Given the description of an element on the screen output the (x, y) to click on. 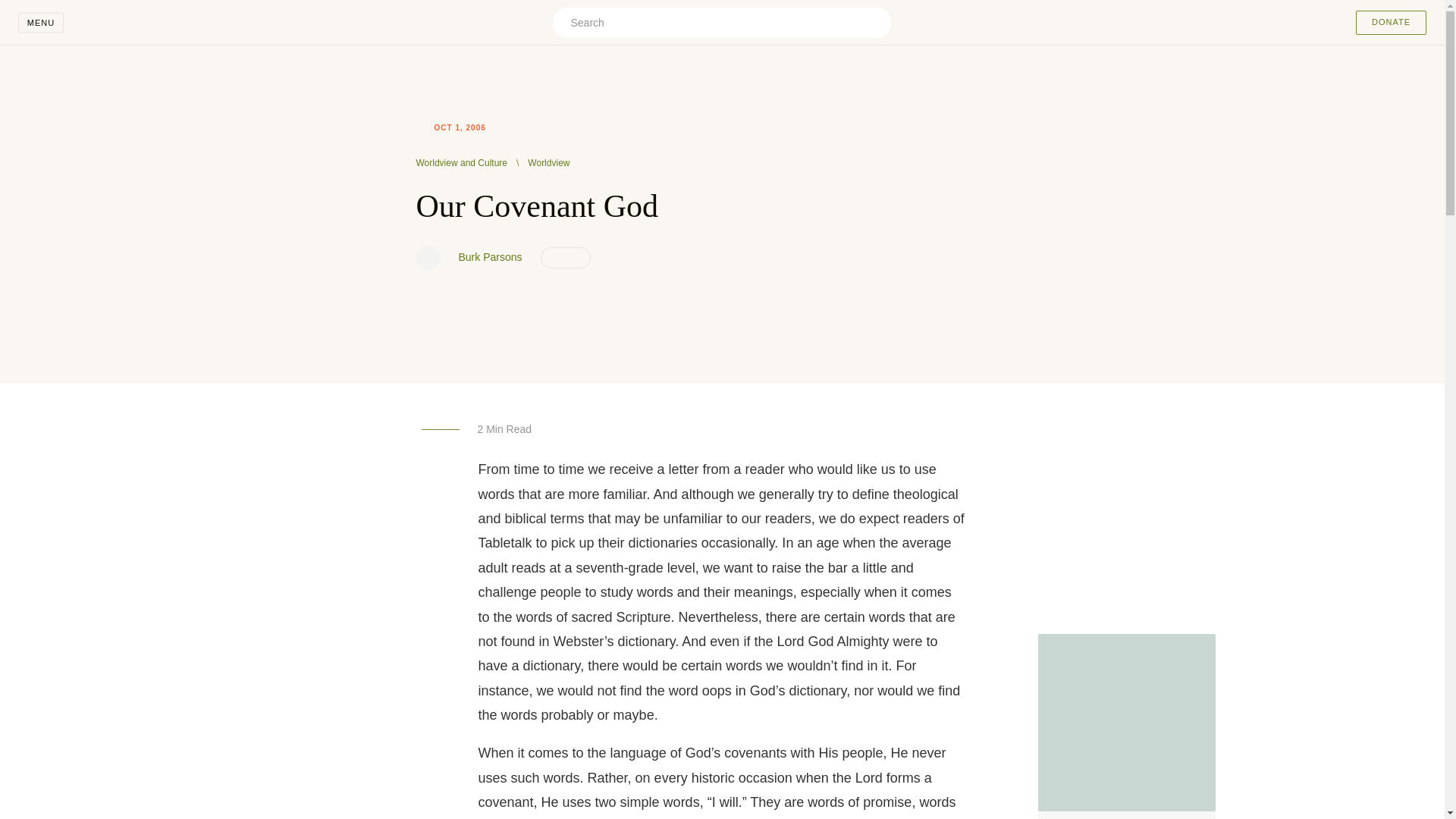
DONATE (1390, 22)
MENU (40, 22)
